Given the description of an element on the screen output the (x, y) to click on. 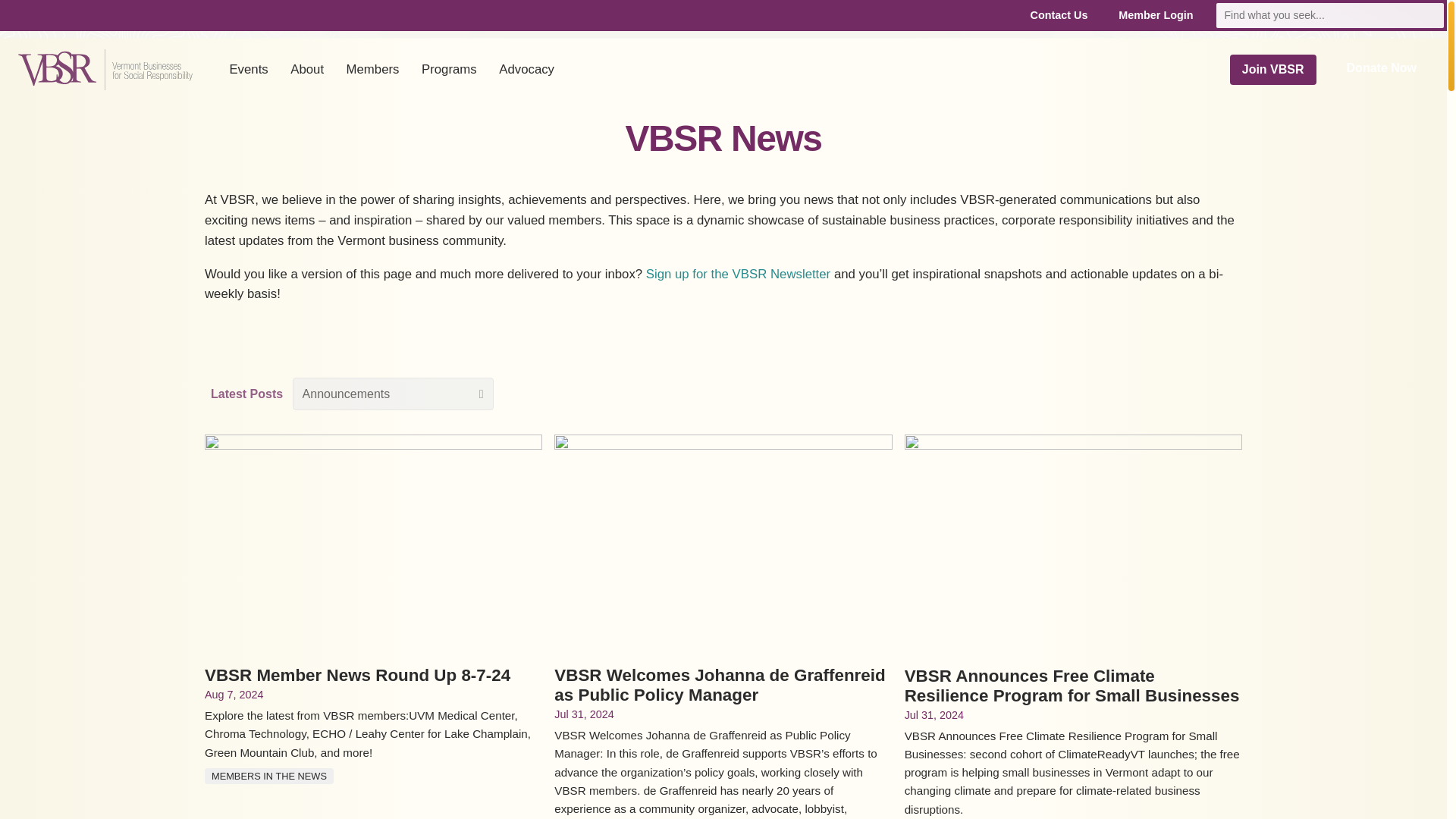
Return Home (104, 69)
Member Login (1156, 15)
Contact Us (1059, 15)
